Given the description of an element on the screen output the (x, y) to click on. 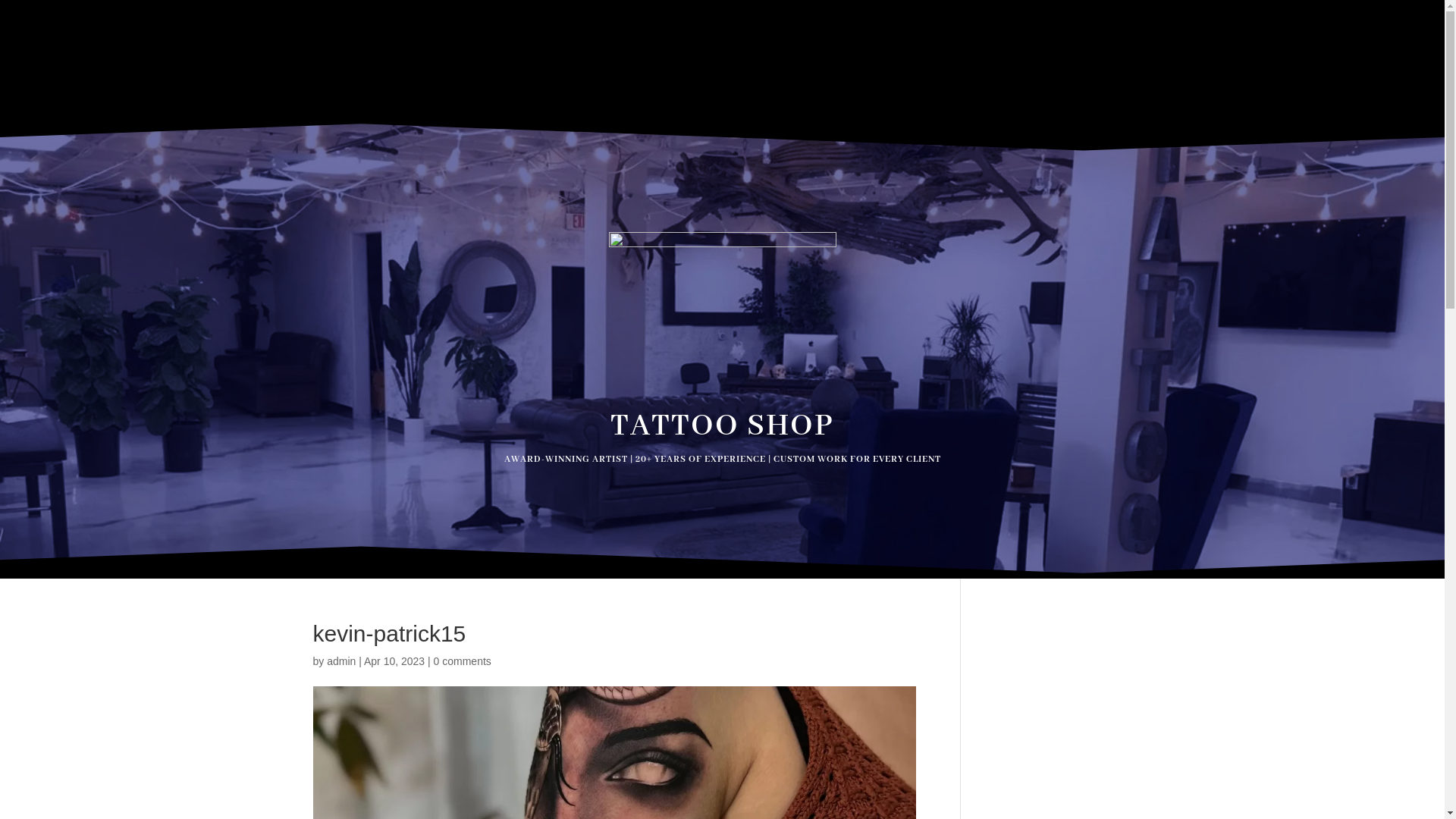
admin Element type: text (340, 661)
0 comments Element type: text (462, 661)
